Given the description of an element on the screen output the (x, y) to click on. 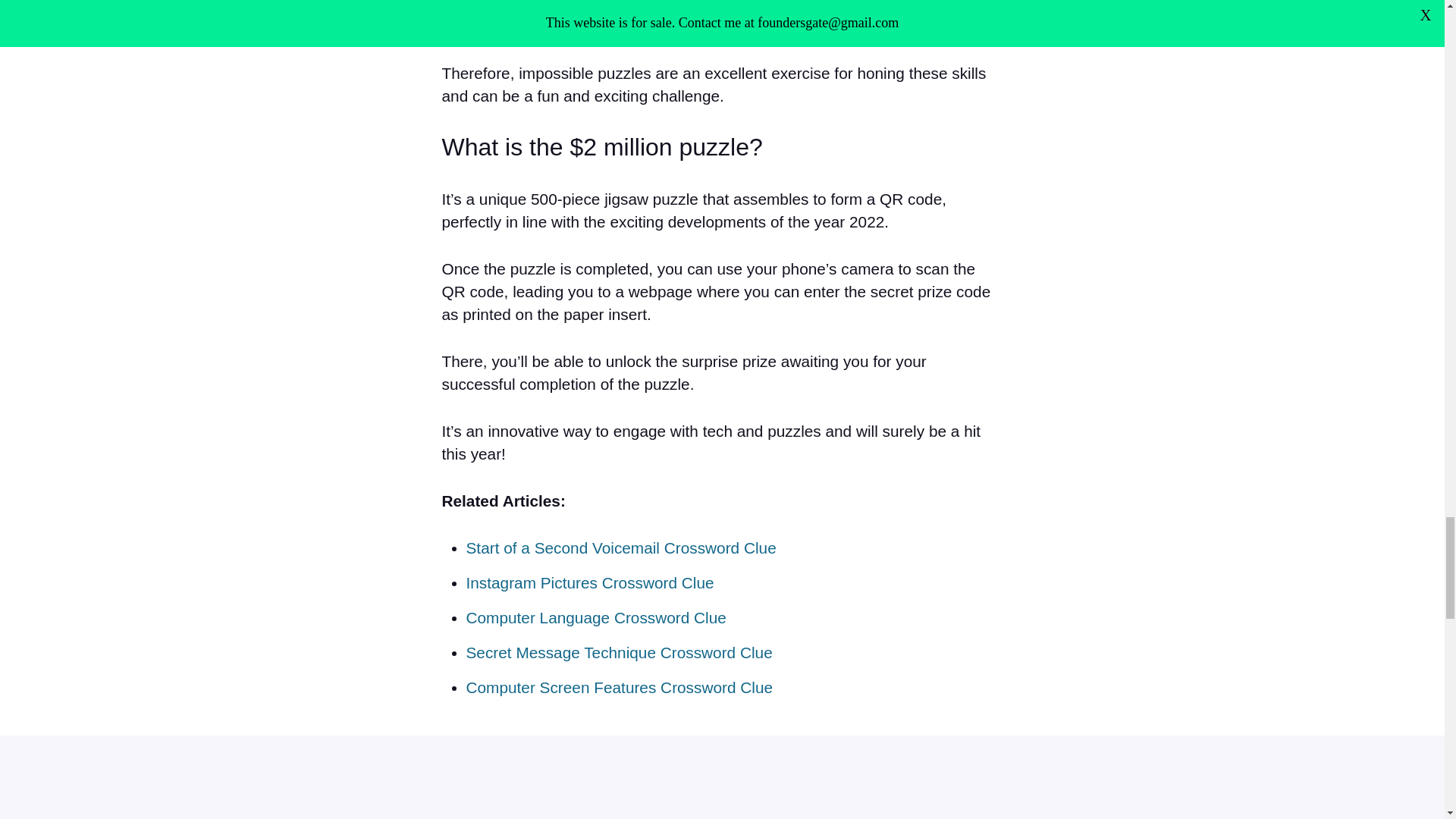
Start of a Second Voicemail Crossword Clue (620, 547)
Instagram Pictures Crossword Clue (589, 582)
Computer Screen Features Crossword Clue (619, 687)
Computer Language Crossword Clue (595, 617)
Secret Message Technique Crossword Clue (618, 651)
